Given the description of an element on the screen output the (x, y) to click on. 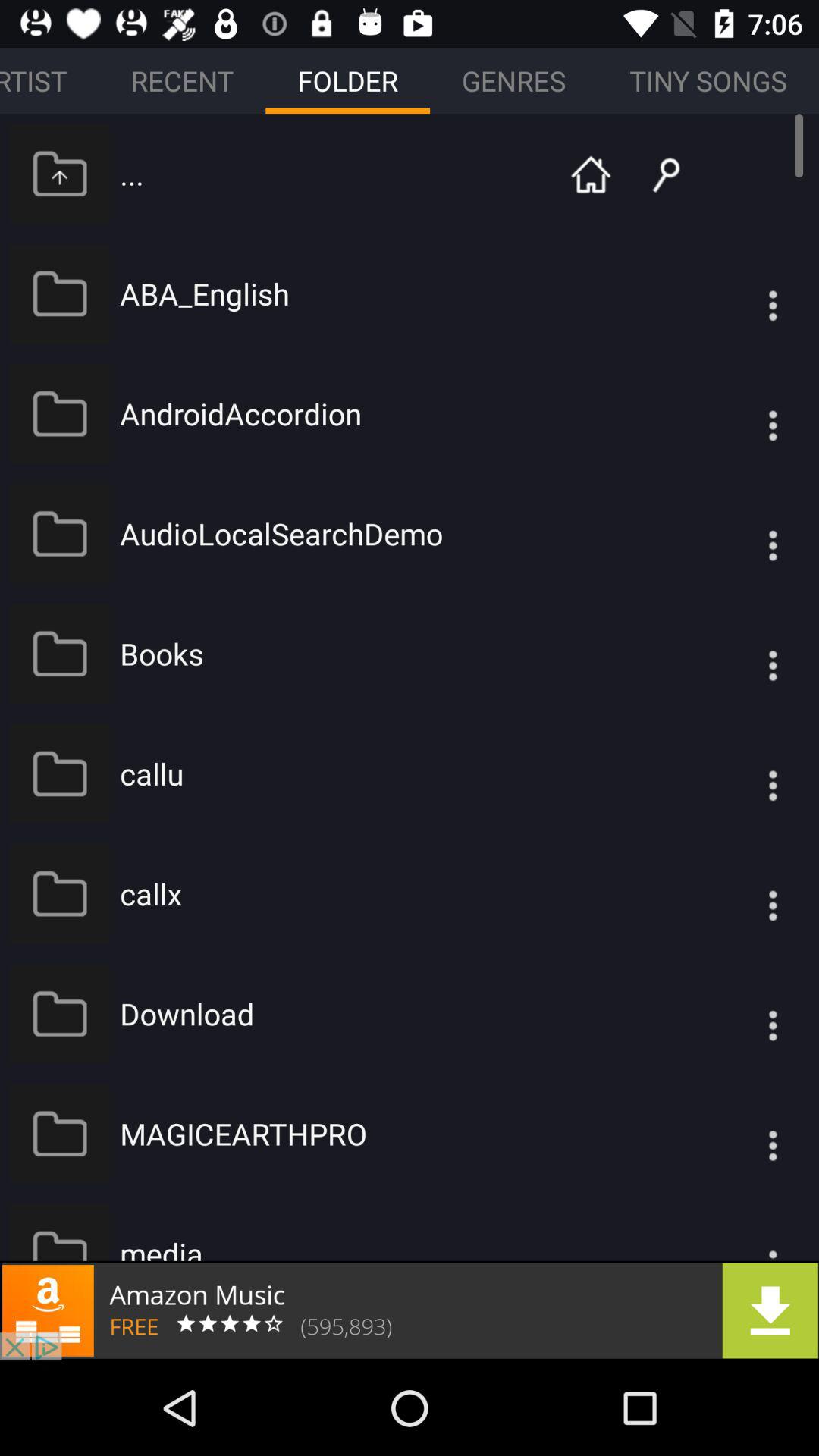
chapter settings (742, 293)
